Given the description of an element on the screen output the (x, y) to click on. 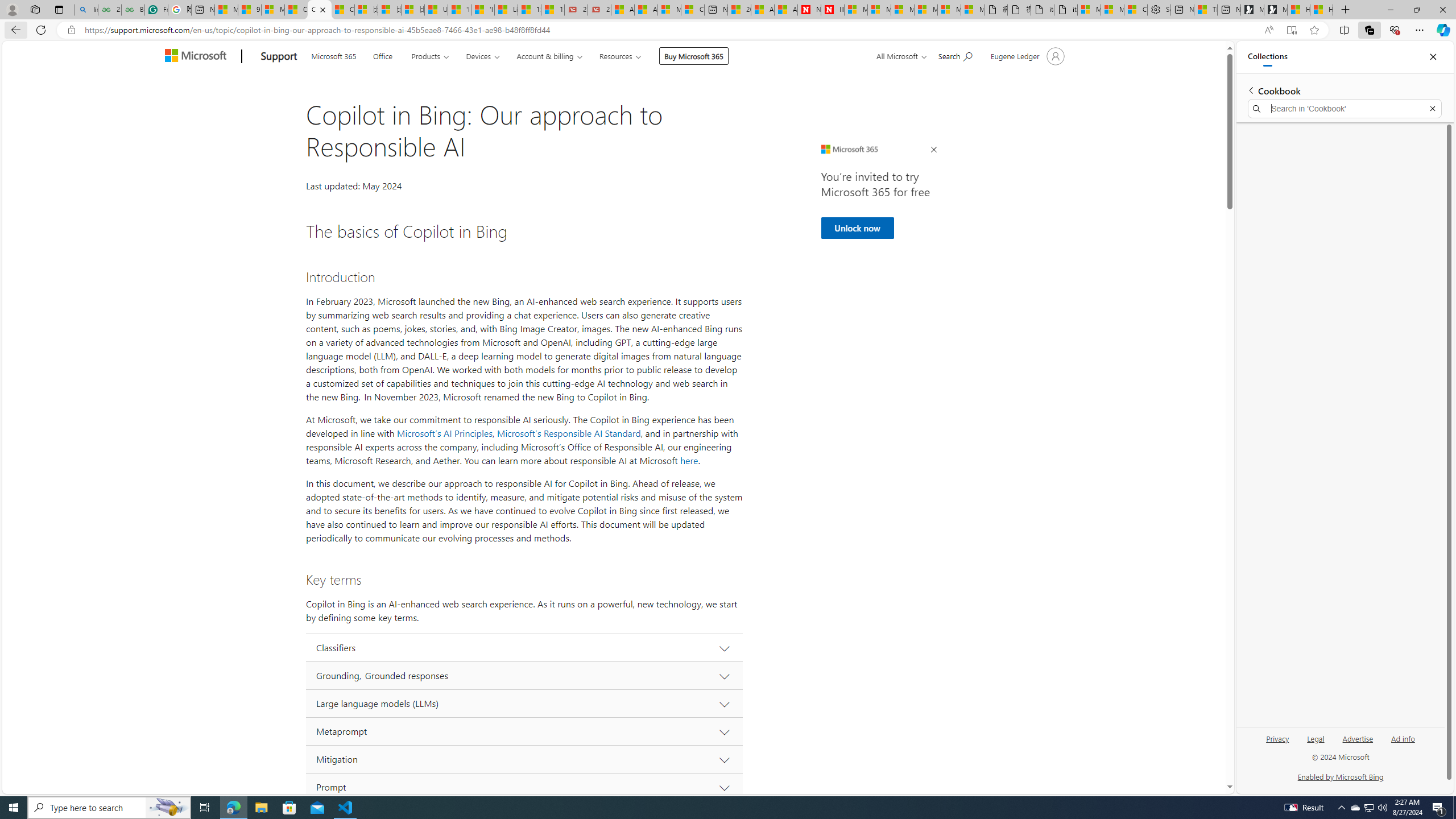
Cloud Computing Services | Microsoft Azure (692, 9)
Free AI Writing Assistance for Students | Grammarly (156, 9)
Office (382, 54)
USA TODAY - MSN (435, 9)
